Given the description of an element on the screen output the (x, y) to click on. 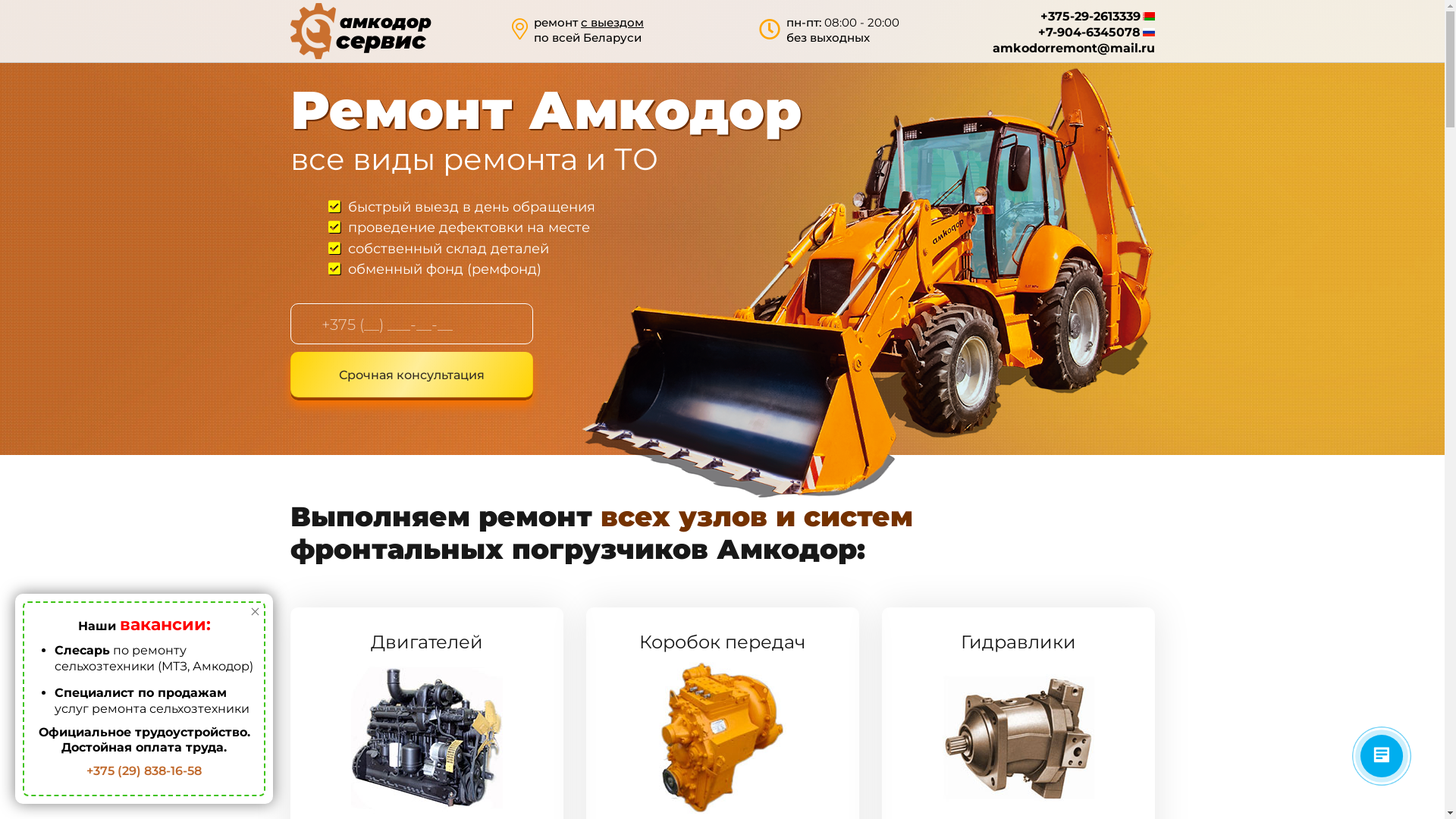
+7-904-6345078 Element type: text (1095, 32)
amkodorremont@mail.ru Element type: text (1072, 47)
+375-29-2613339 Element type: text (1097, 16)
+375 (29) 838-16-58 Element type: text (143, 770)
